Given the description of an element on the screen output the (x, y) to click on. 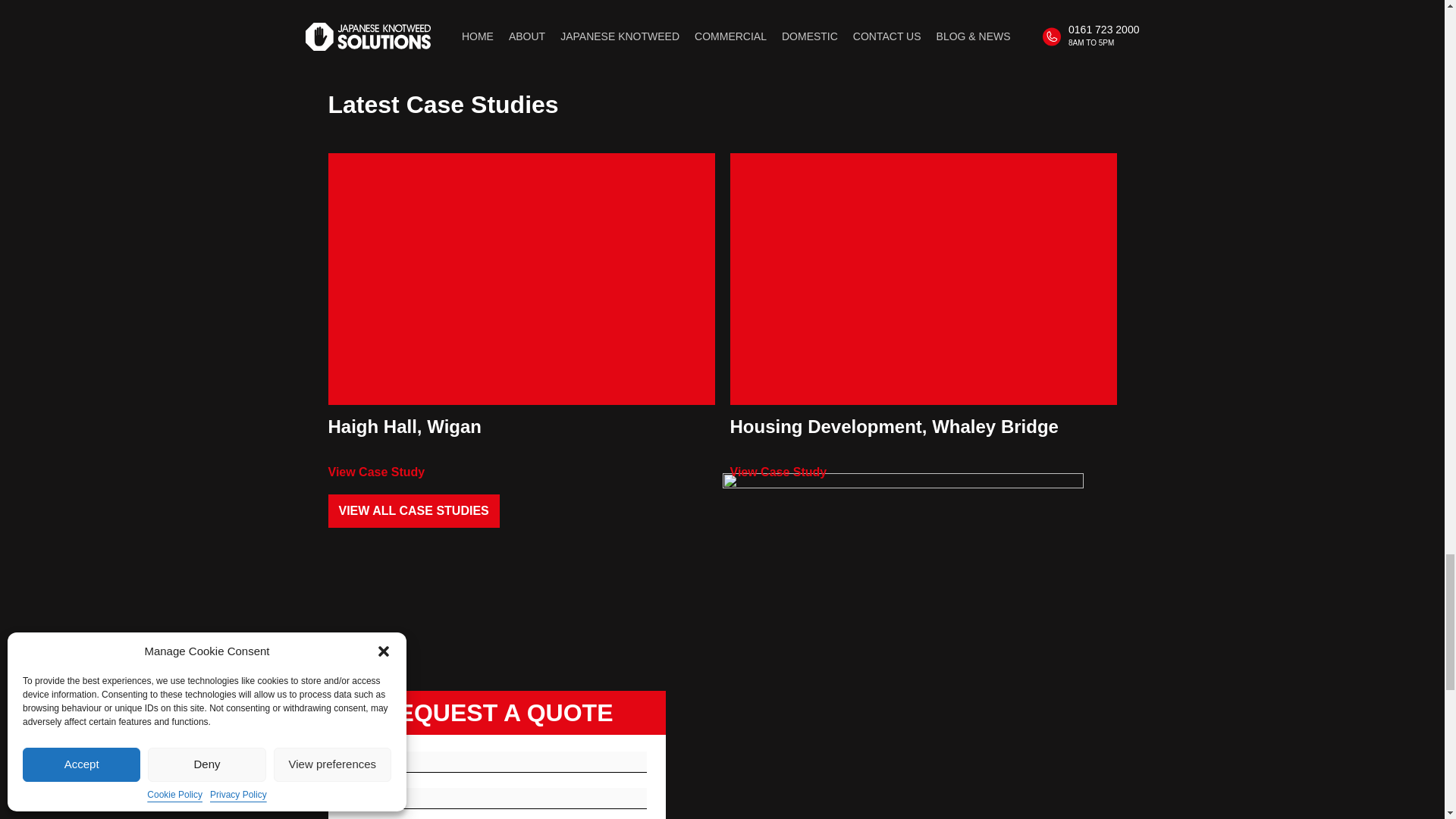
Financial Implications of Japanese Knotweed 8 (922, 278)
Financial Implications of Japanese Knotweed 7 (520, 278)
